Given the description of an element on the screen output the (x, y) to click on. 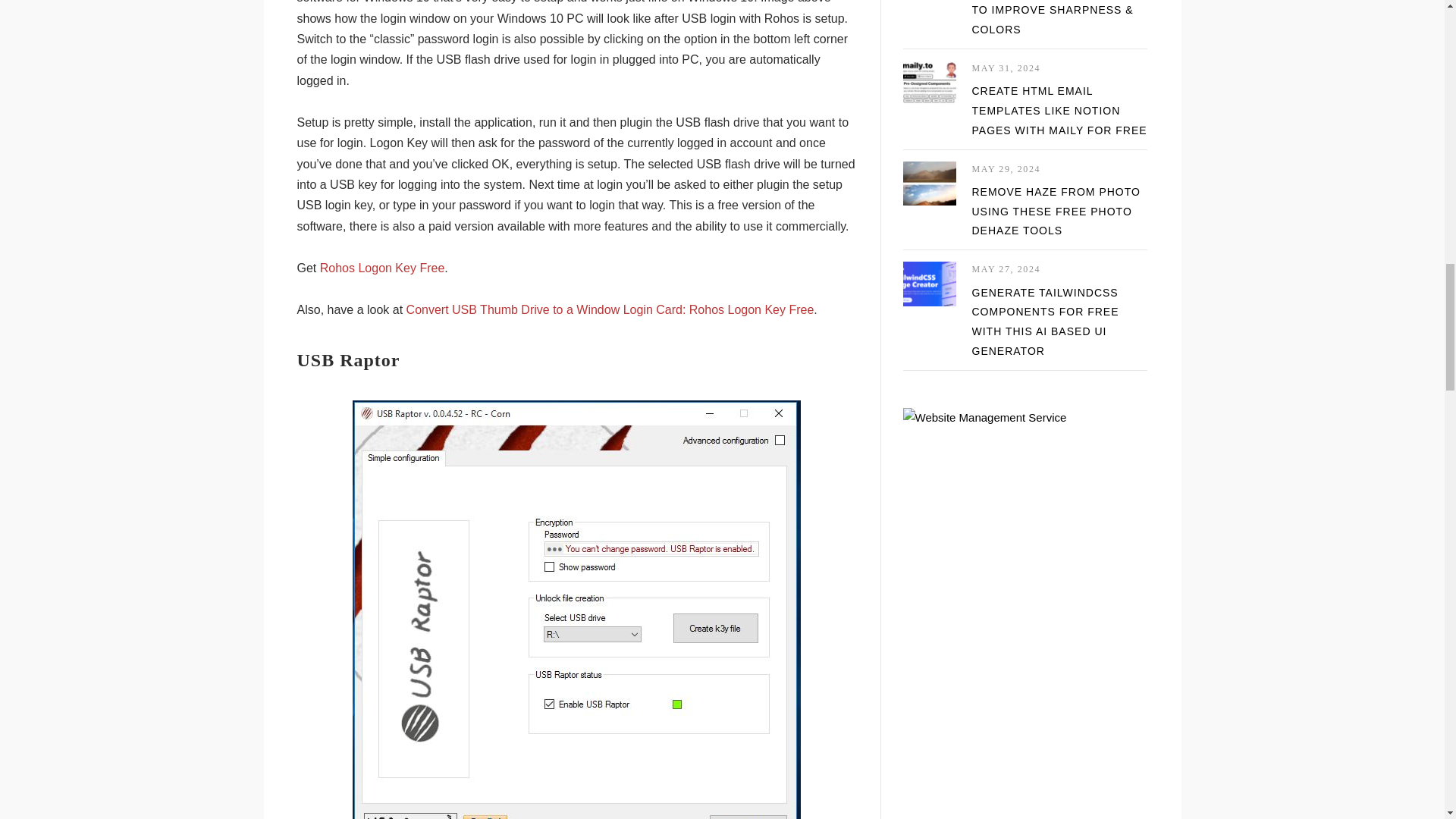
Rohos Logon Key Free (382, 267)
Rohos Logon Key Free (382, 267)
